Given the description of an element on the screen output the (x, y) to click on. 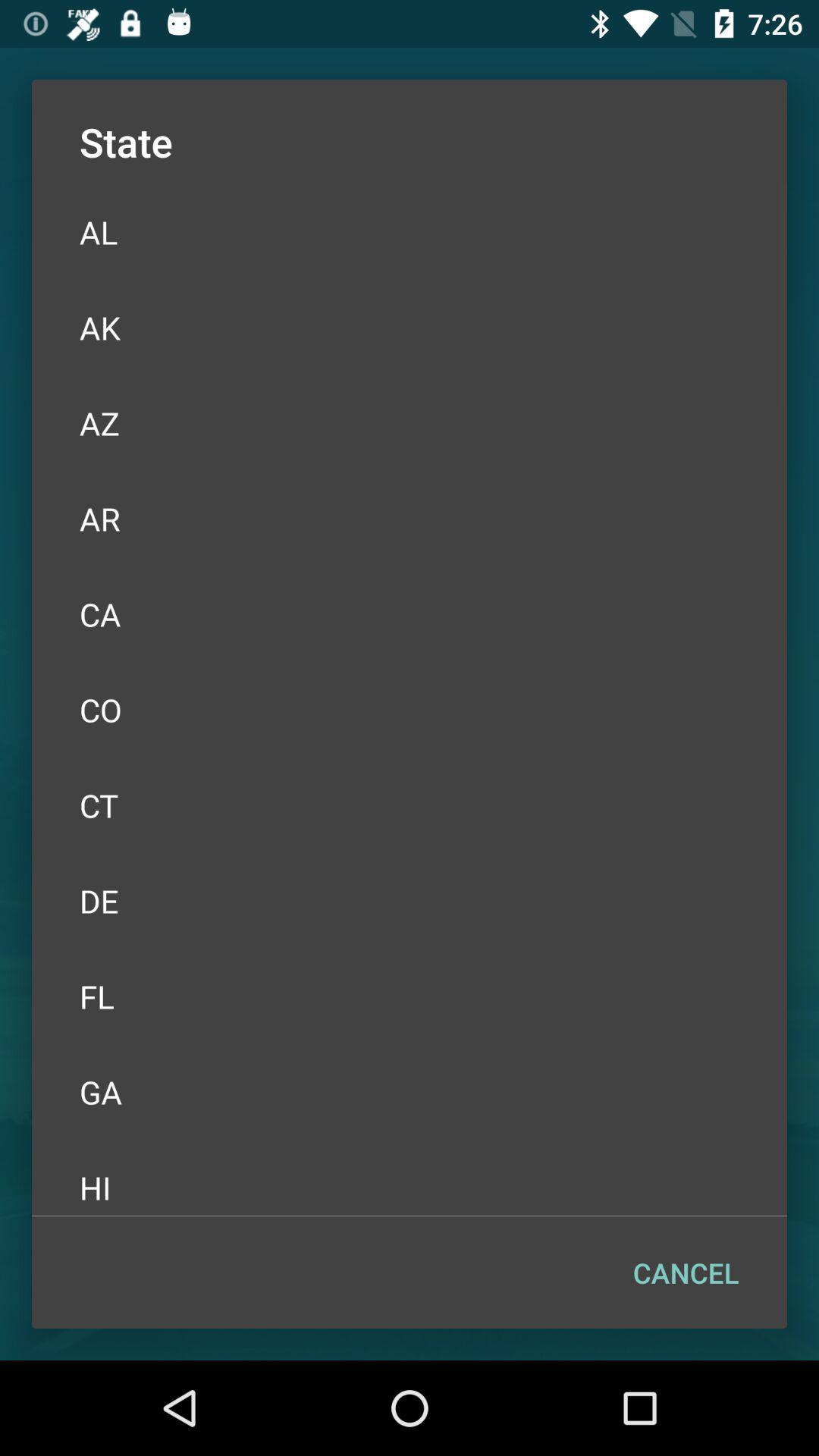
turn on item below the ak icon (409, 422)
